Given the description of an element on the screen output the (x, y) to click on. 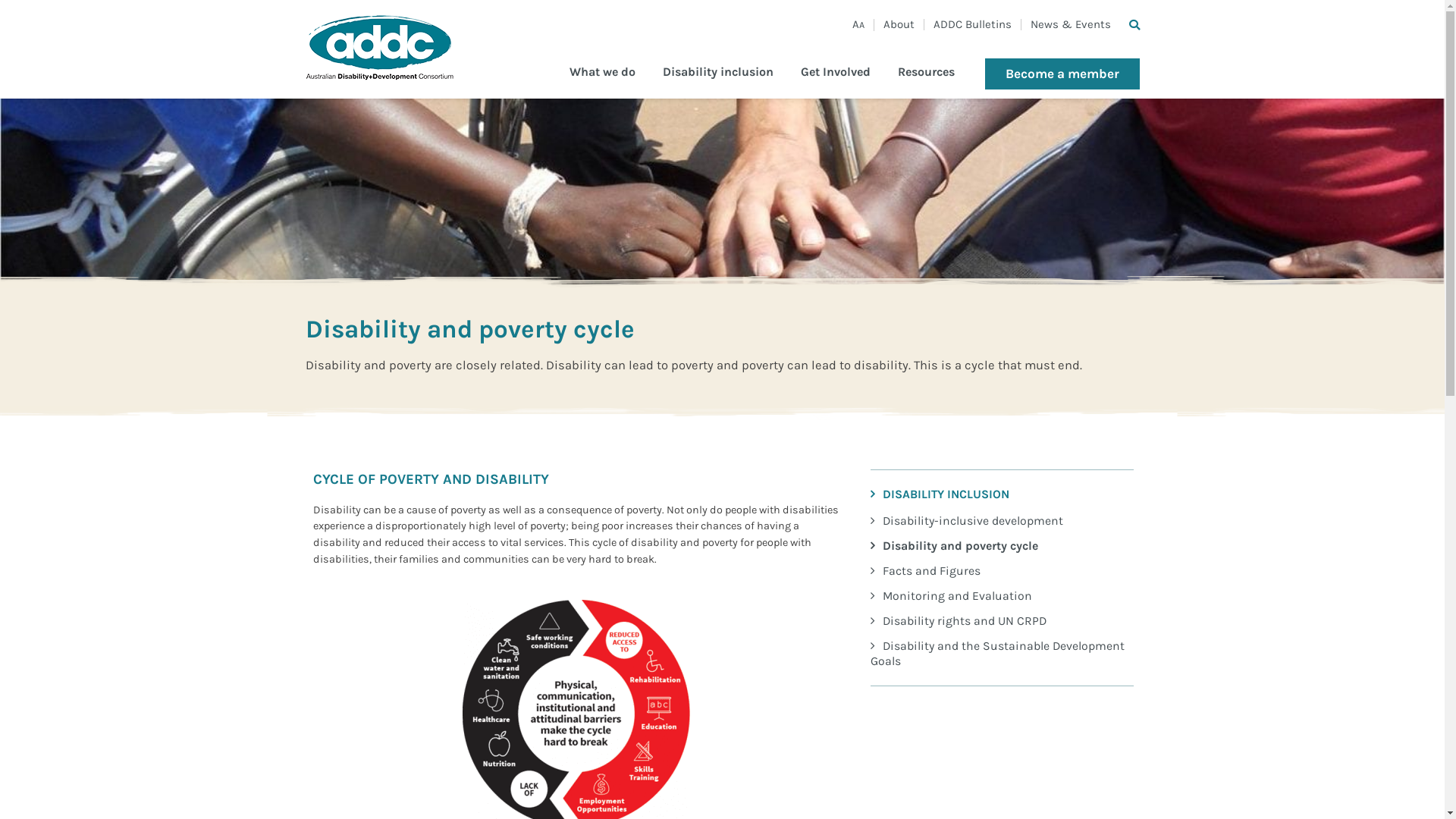
DISABILITY INCLUSION Element type: text (1001, 494)
ADDC Bulletins Element type: text (971, 24)
News & Events Element type: text (1069, 24)
Get Involved Element type: text (835, 81)
What we do Element type: text (601, 81)
Disability rights and UN CRPD Element type: text (1001, 620)
Disability inclusion Element type: text (718, 81)
Become a member Element type: text (1061, 73)
Facts and Figures Element type: text (1001, 570)
Disability-inclusive development Element type: text (1001, 520)
Search the site Element type: hover (1133, 25)
AA Element type: text (858, 24)
Monitoring and Evaluation Element type: text (1001, 595)
Disability and the Sustainable Development Goals Element type: text (1001, 653)
Resources Element type: text (926, 81)
Disability and poverty cycle Element type: text (1001, 545)
About Element type: text (897, 24)
